Given the description of an element on the screen output the (x, y) to click on. 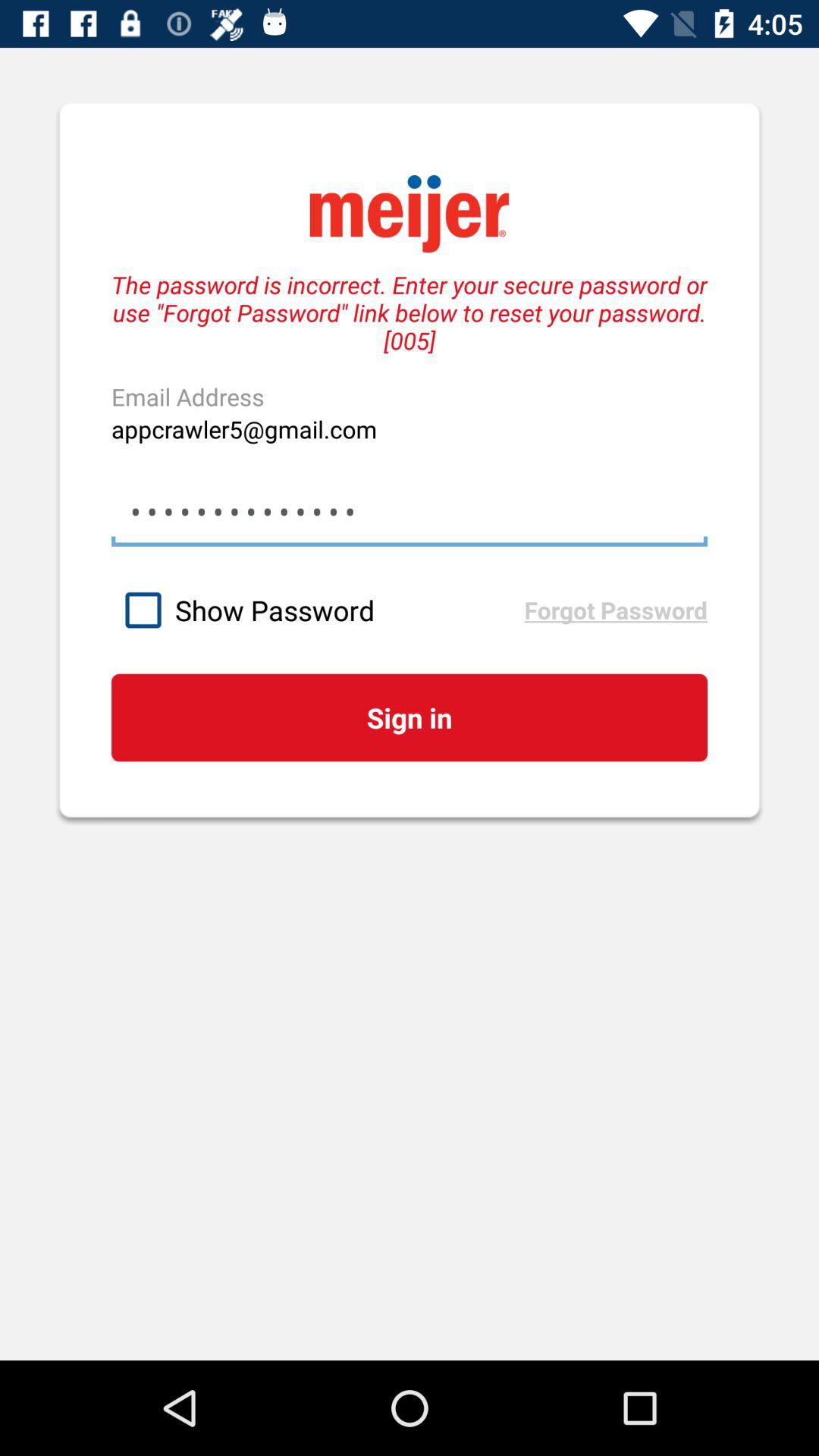
tap the icon below show password icon (409, 717)
